Given the description of an element on the screen output the (x, y) to click on. 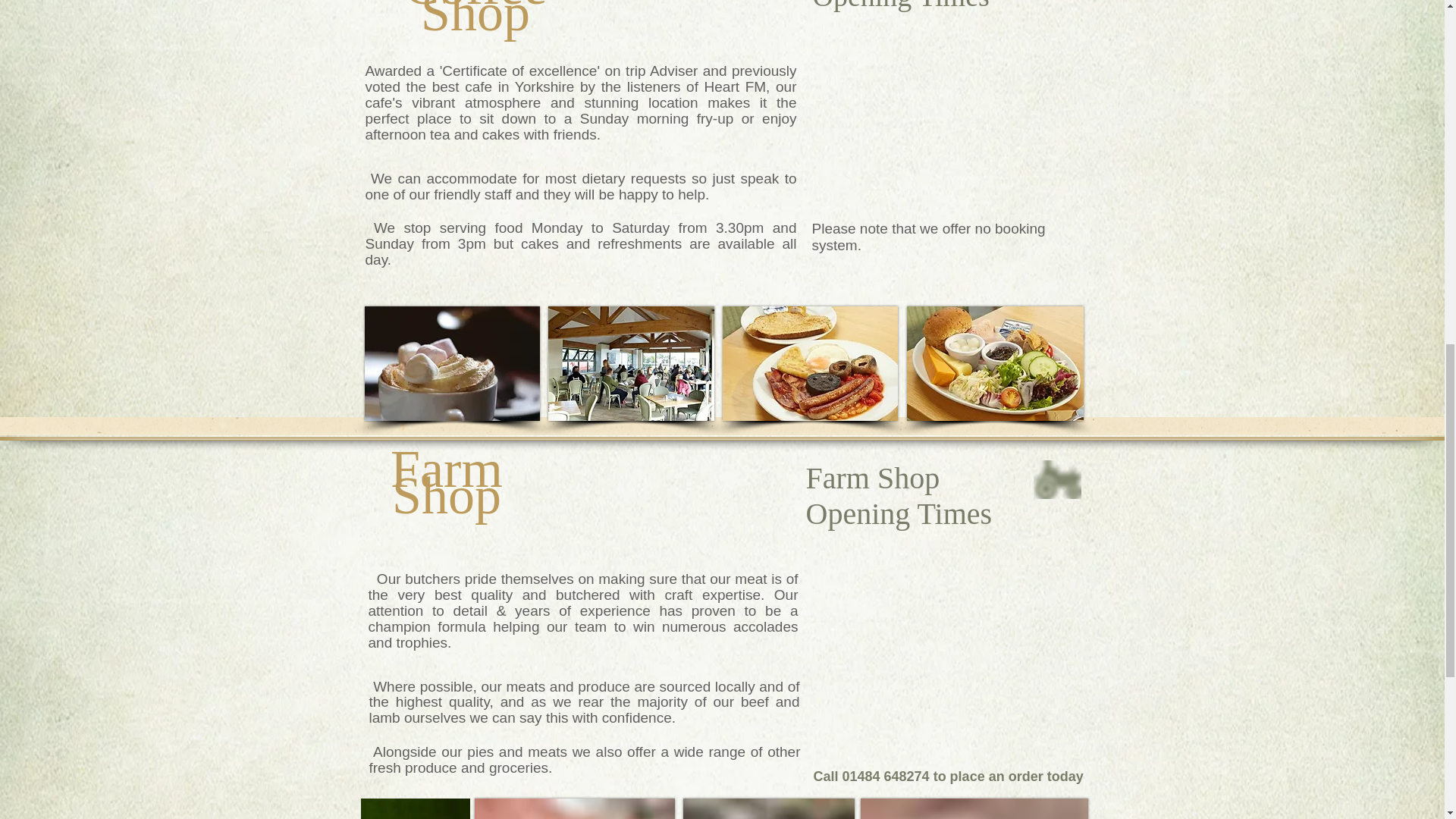
Farm Shop (446, 481)
The Coffee Shop (475, 20)
